Given the description of an element on the screen output the (x, y) to click on. 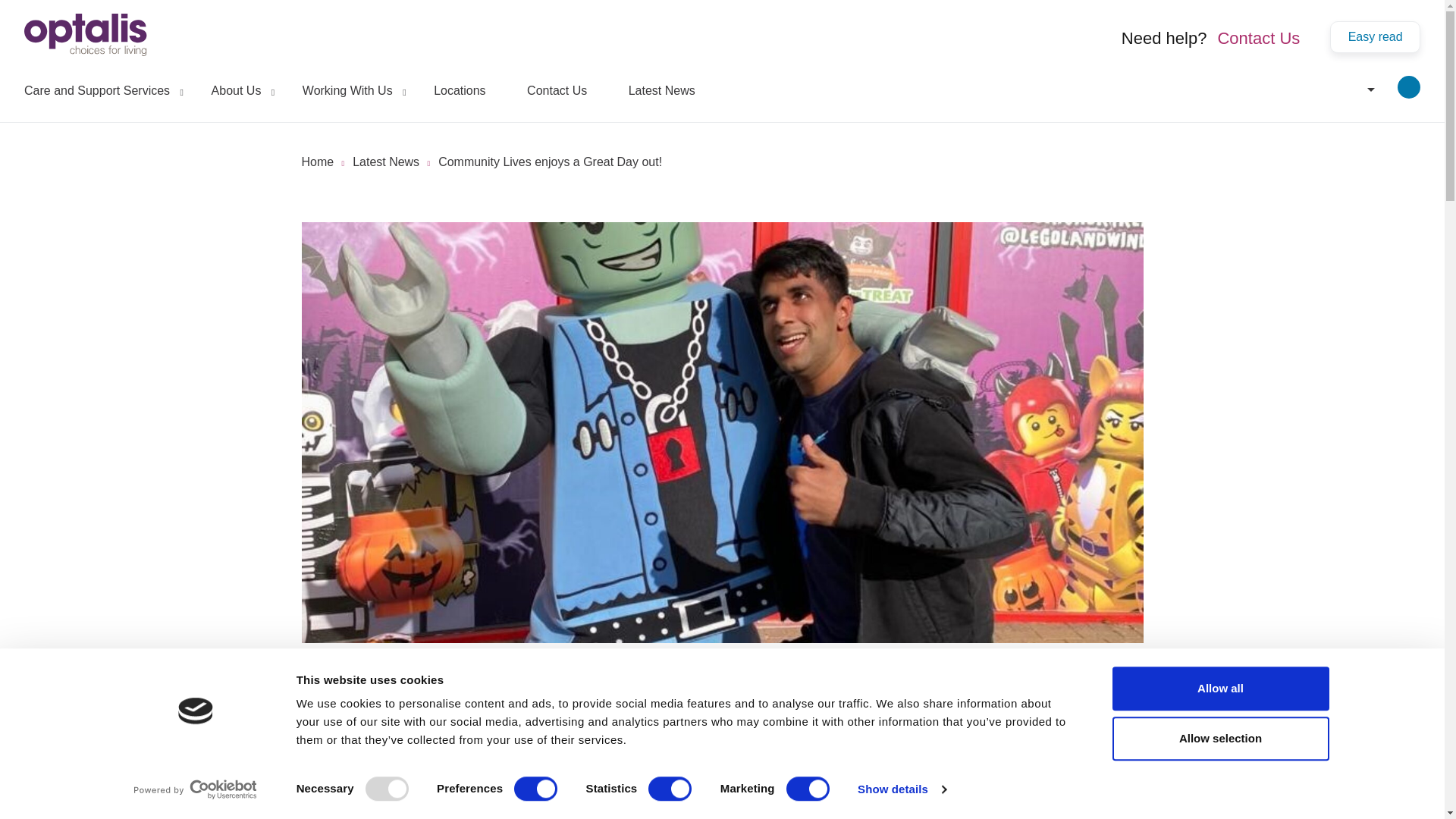
Easy read (1375, 37)
Contact Us (1255, 37)
Allow all (1219, 688)
Show details (900, 789)
Allow selection (1219, 738)
